Given the description of an element on the screen output the (x, y) to click on. 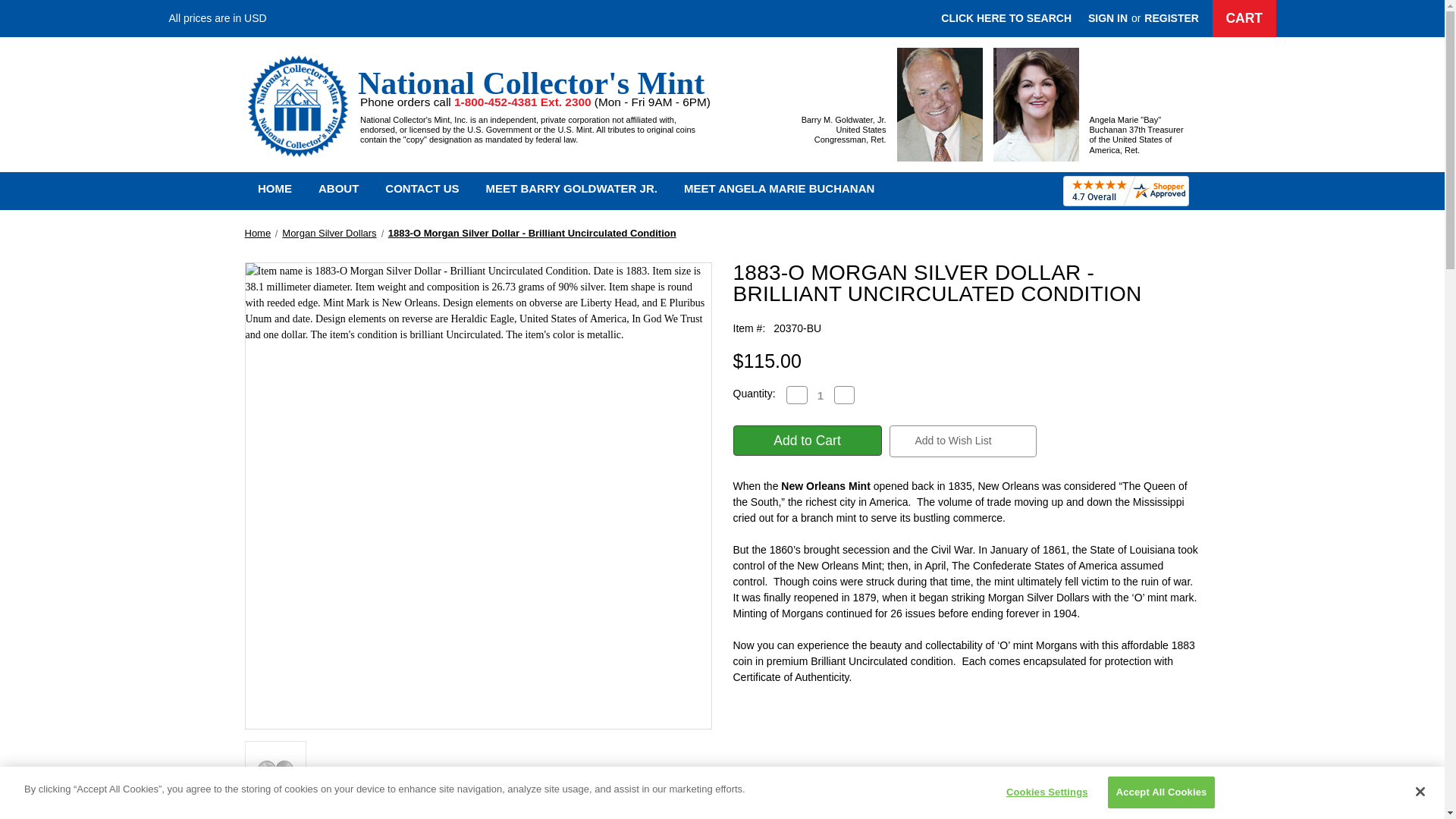
National Collector's Mint Logo (296, 104)
SIGN IN (1107, 18)
Add to Cart (806, 440)
CLICK HERE TO SEARCH (1006, 18)
CART (1244, 18)
1 (819, 395)
REGISTER (1171, 18)
